Given the description of an element on the screen output the (x, y) to click on. 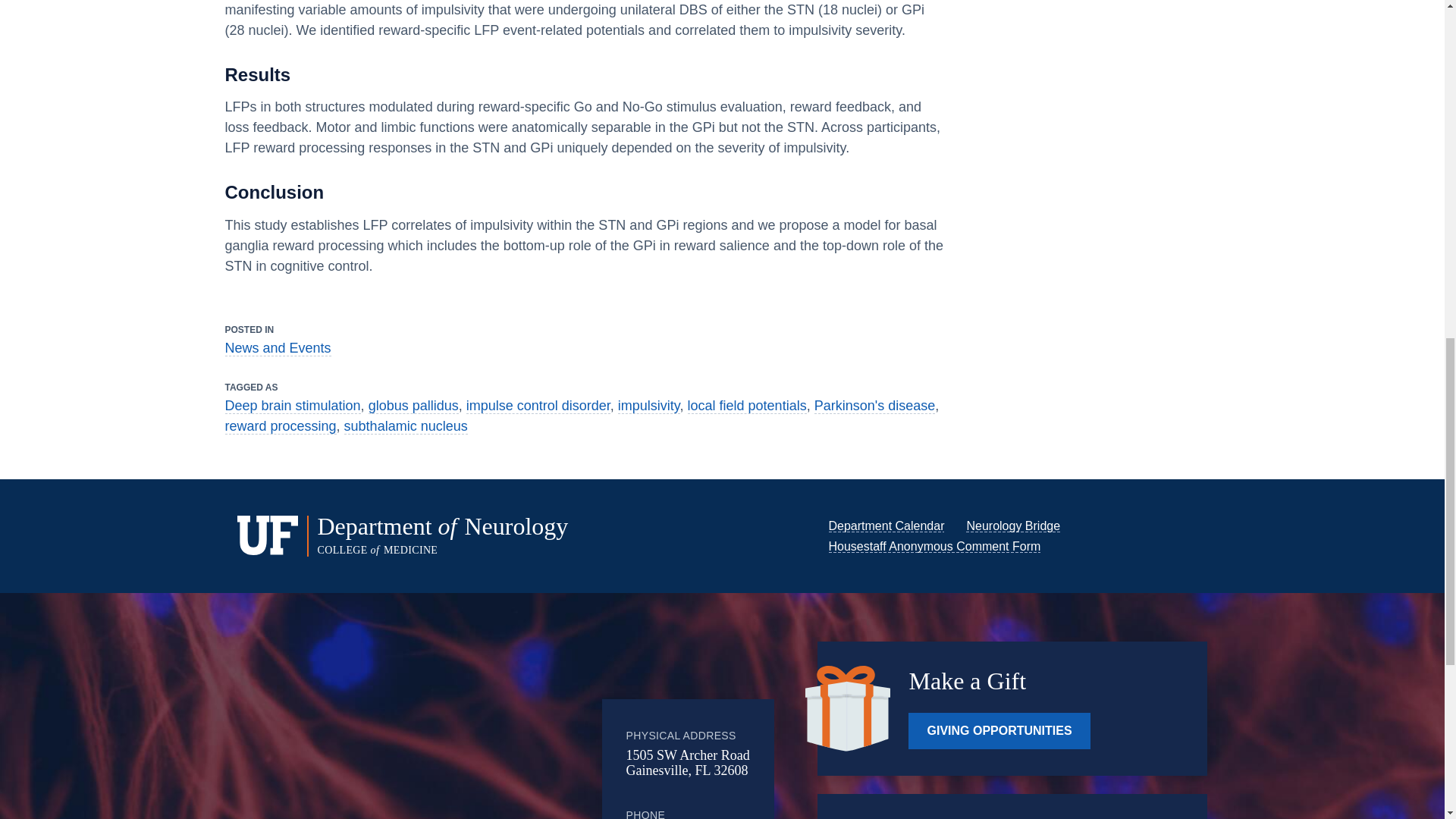
Housestaff Anonymous Comment Form (934, 545)
Google Maps Embed (477, 733)
Neurology Bridge (1012, 525)
Department Calendar (885, 525)
